Given the description of an element on the screen output the (x, y) to click on. 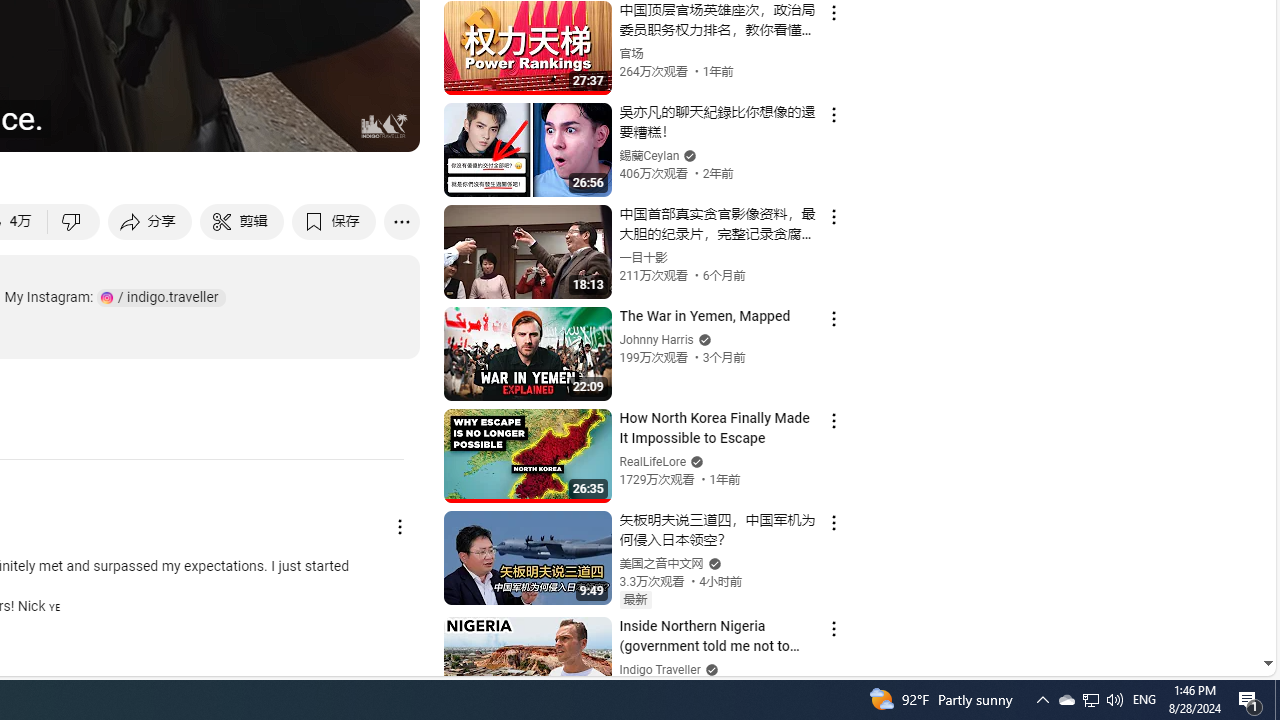
Instagram Channel Link: indigo.traveller (161, 297)
